Given the description of an element on the screen output the (x, y) to click on. 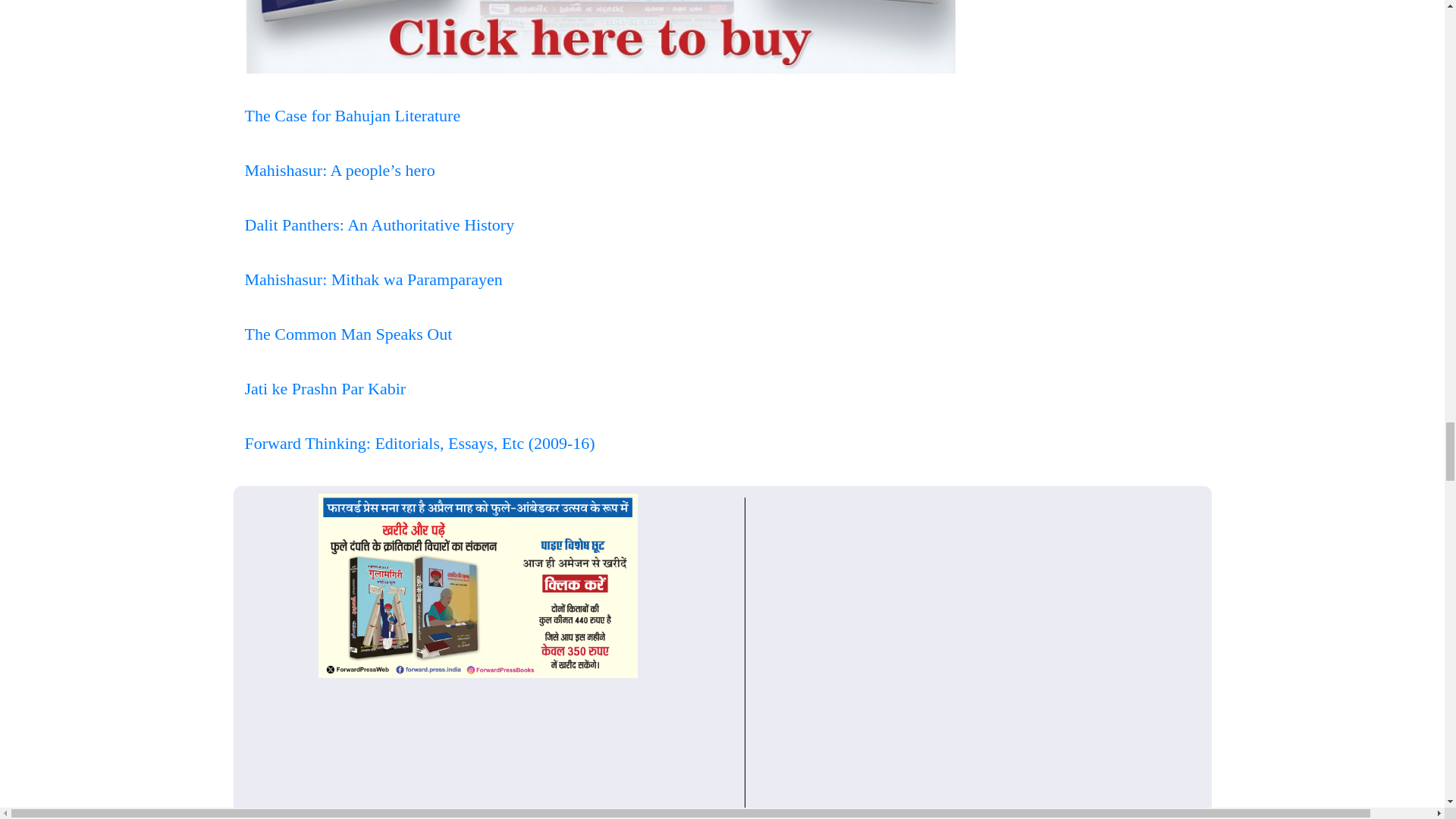
Jati ke Prashn Par Kabir (325, 388)
Dalit Panthers: An Authoritative History (378, 224)
The Case for Bahujan Literature (352, 115)
The Common Man Speaks Out (347, 333)
Mahishasur: Mithak wa Paramparayen (373, 279)
